Given the description of an element on the screen output the (x, y) to click on. 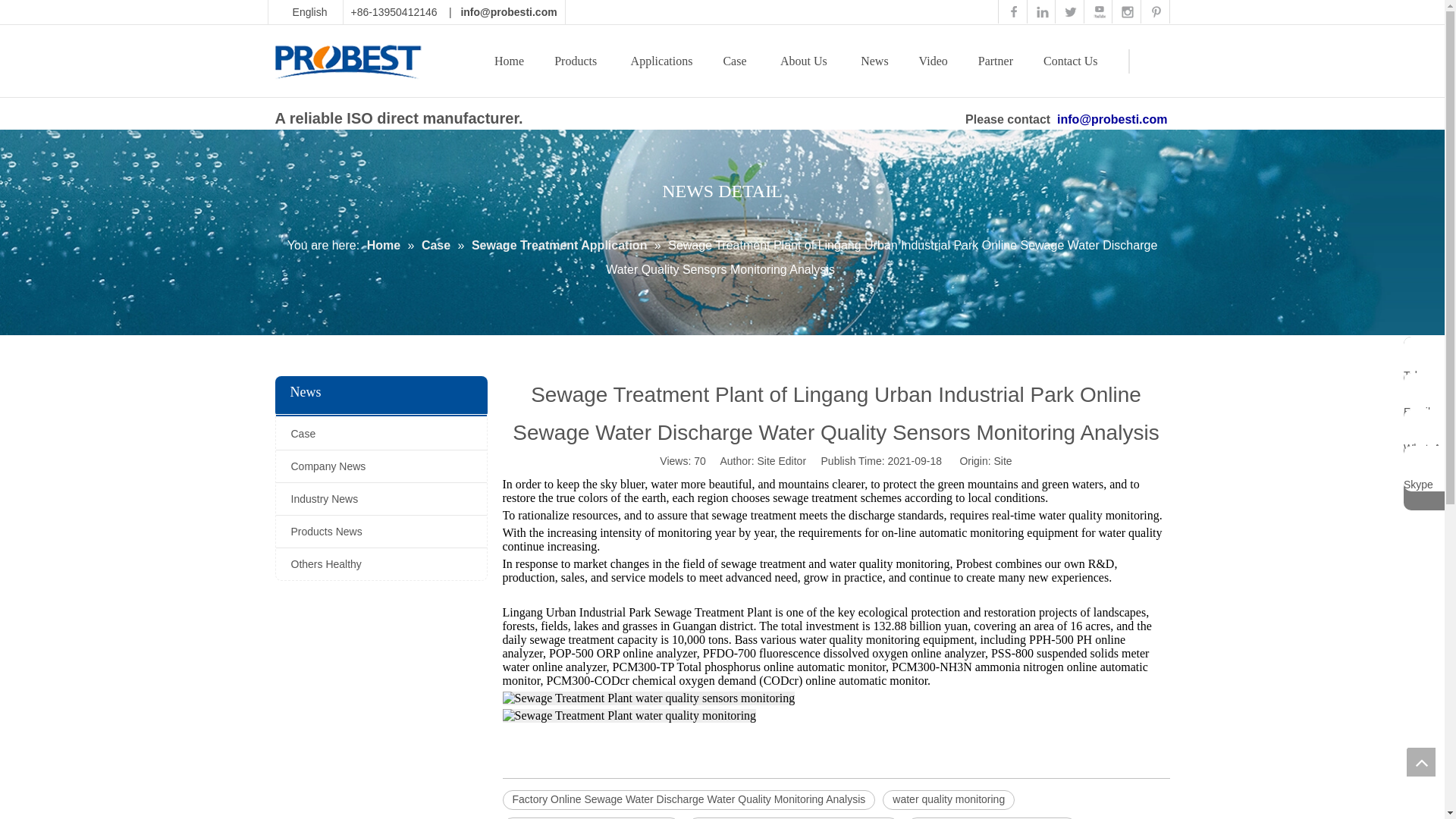
Video (932, 60)
Facebook (1011, 10)
Contact Us (1070, 60)
Linkedin (1040, 10)
Products News (381, 531)
Instagram (1126, 10)
Industry News (381, 499)
Twitter (1068, 10)
About Us (803, 60)
Pinterest (1155, 10)
Products (575, 60)
News (874, 60)
Company News (381, 466)
Applications (661, 60)
Home (509, 60)
